Given the description of an element on the screen output the (x, y) to click on. 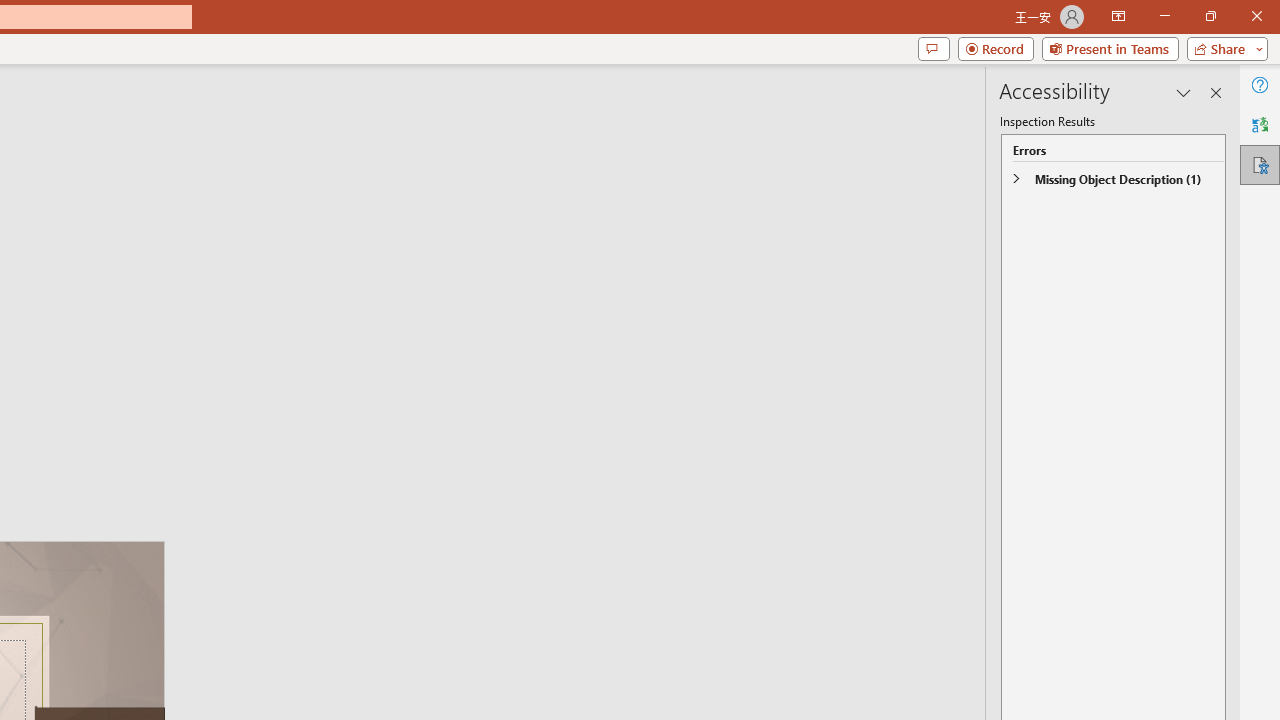
Comments (933, 48)
Accessibility (1260, 164)
Translator (1260, 124)
Share (1223, 48)
Minimize (1164, 16)
Task Pane Options (1183, 92)
Close pane (1215, 92)
Ribbon Display Options (1118, 16)
Restore Down (1210, 16)
Help (1260, 84)
Present in Teams (1109, 48)
Close (1256, 16)
